Given the description of an element on the screen output the (x, y) to click on. 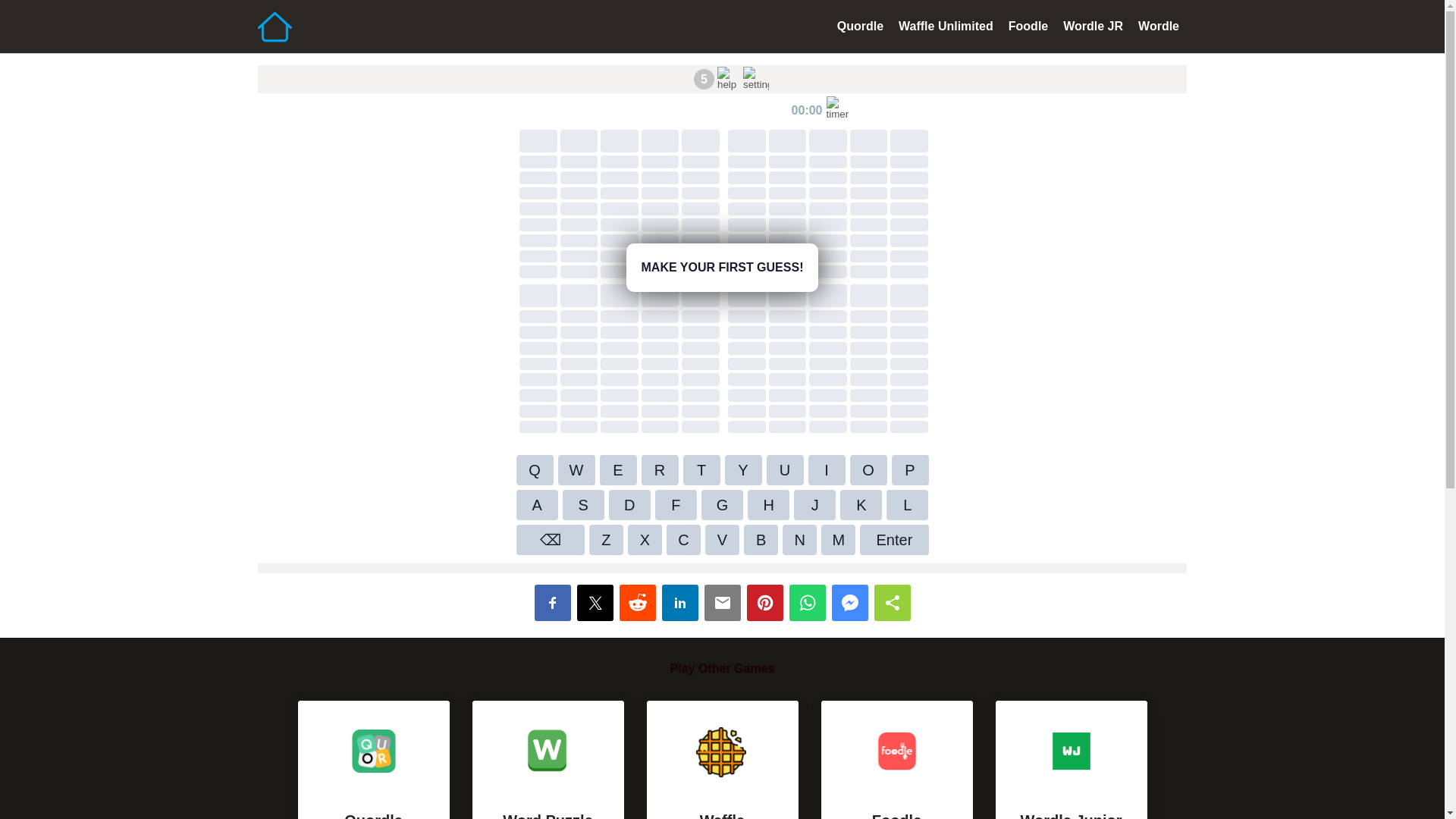
Foodle (1028, 25)
2048 Tetris (1070, 760)
Waffle Unlimited (1093, 25)
Quordle (946, 25)
2048 Tetris (860, 25)
Wordle (896, 760)
